Given the description of an element on the screen output the (x, y) to click on. 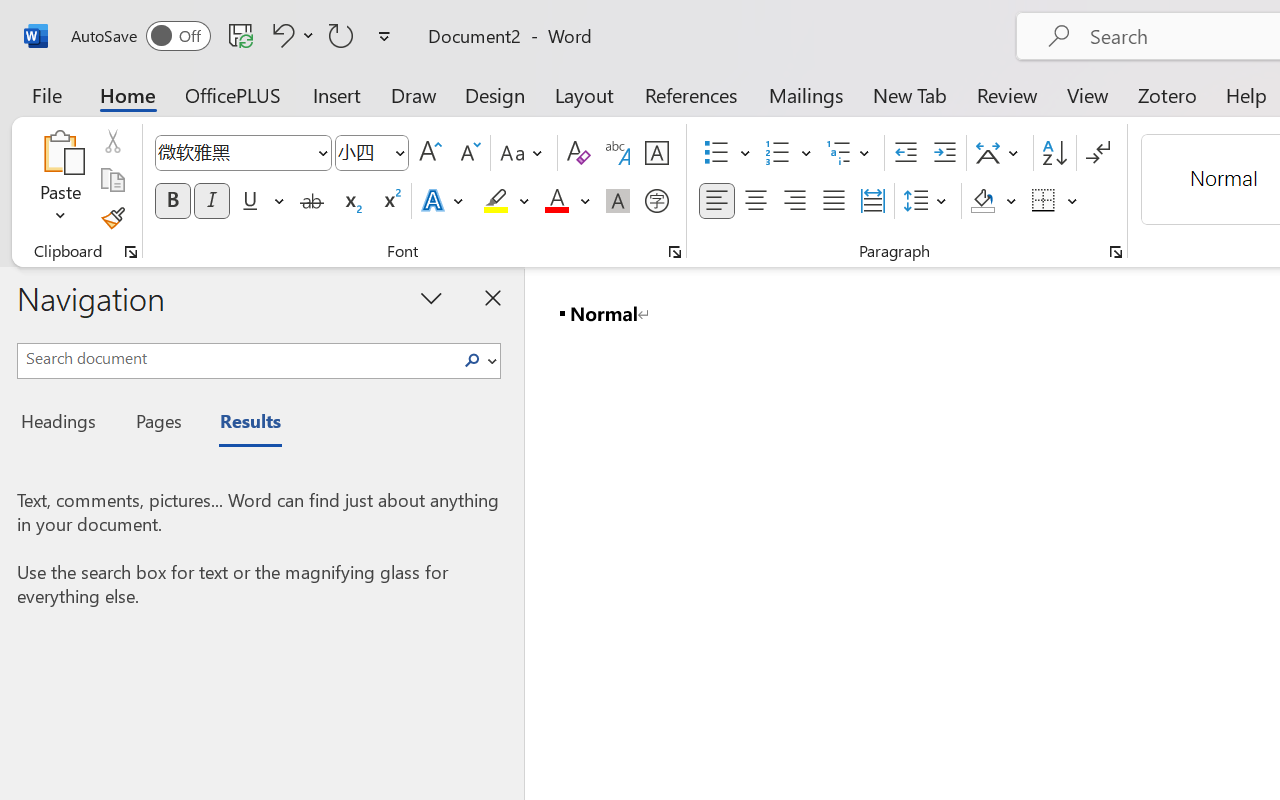
Text Highlight Color Yellow (495, 201)
Font (242, 153)
New Tab (909, 94)
Cut (112, 141)
Design (495, 94)
Bold (172, 201)
Phonetic Guide... (618, 153)
Align Left (716, 201)
Search document (236, 358)
Review (1007, 94)
Strikethrough (312, 201)
Text Effects and Typography (444, 201)
Italic (212, 201)
Shrink Font (468, 153)
